Given the description of an element on the screen output the (x, y) to click on. 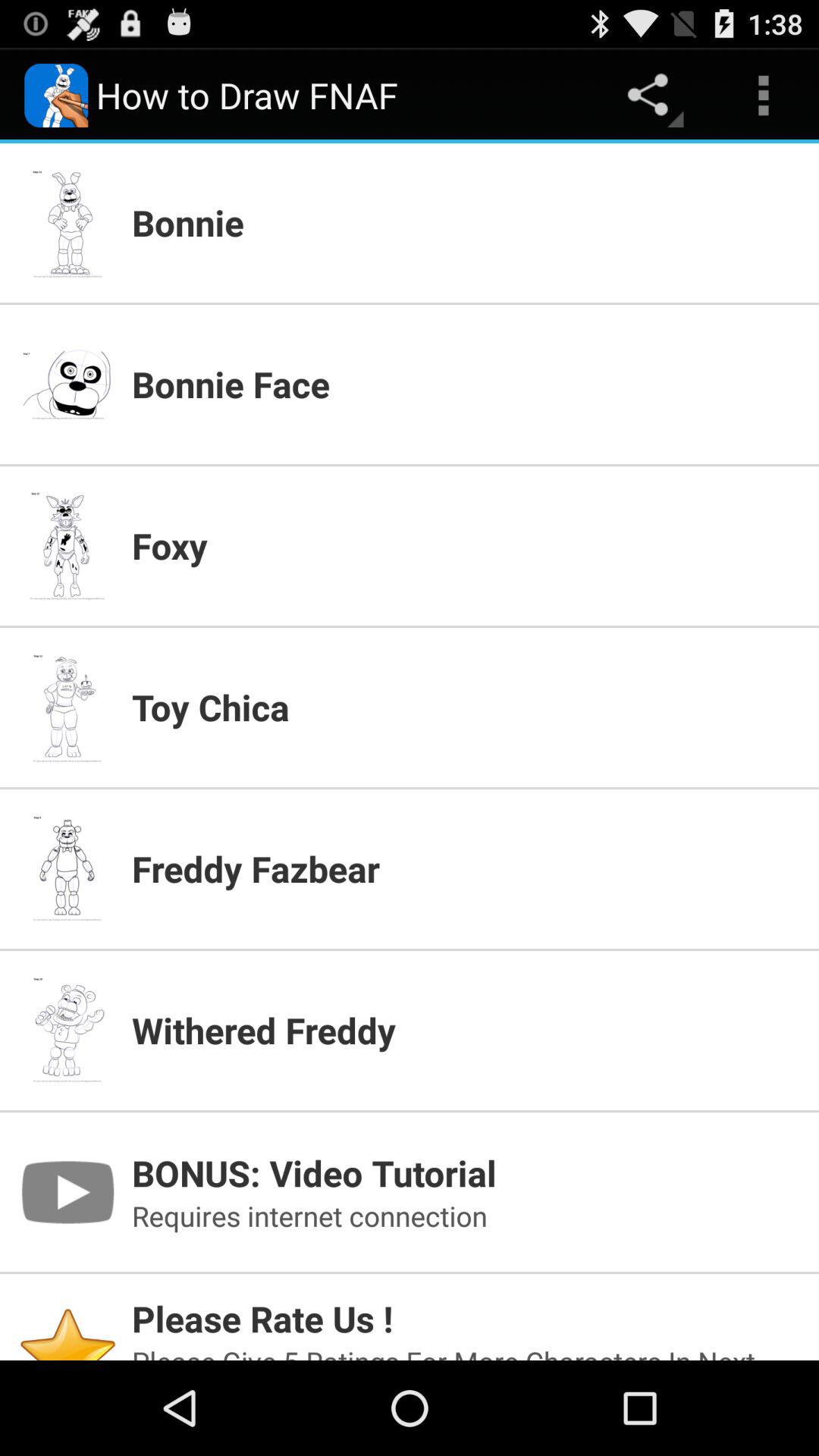
press app below the requires internet connection icon (465, 1318)
